Given the description of an element on the screen output the (x, y) to click on. 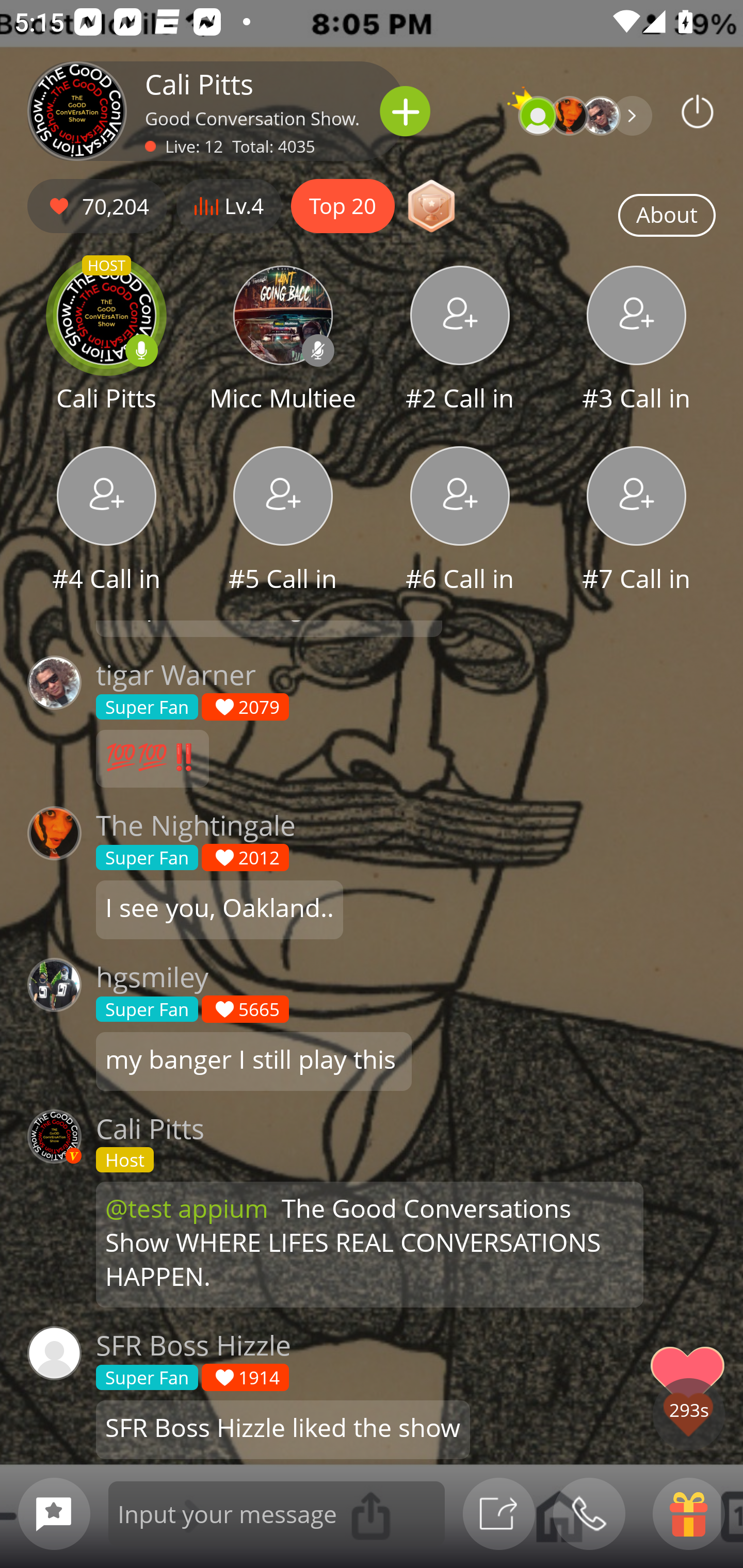
Podbean (697, 111)
About (666, 215)
HOST Cali Pitts (105, 340)
Micc Multiee (282, 340)
#2 Call in (459, 340)
#3 Call in (636, 340)
#4 Call in (105, 521)
#5 Call in (282, 521)
#6 Call in (459, 521)
#7 Call in (636, 521)
Input your message (276, 1513)
